Given the description of an element on the screen output the (x, y) to click on. 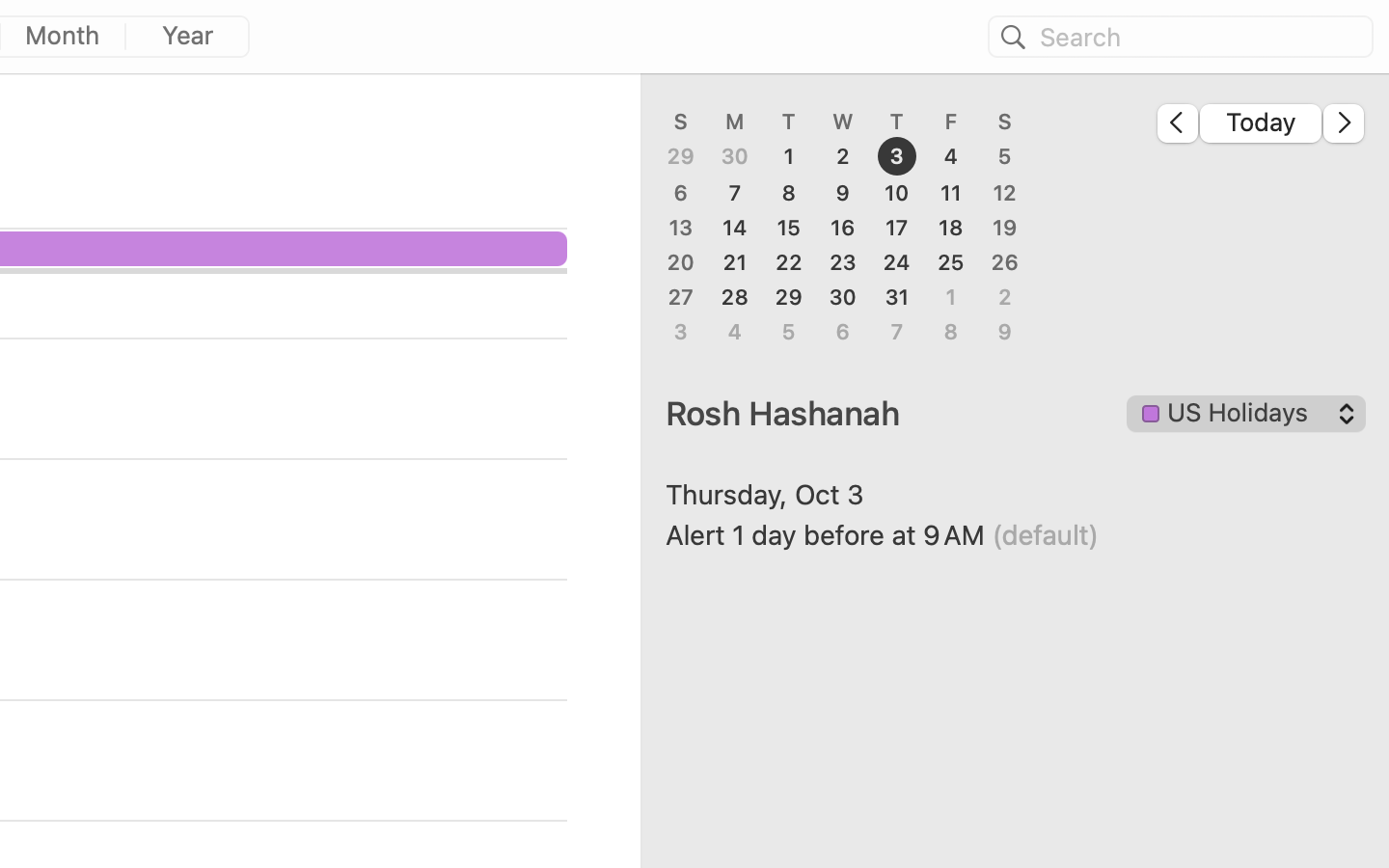
17 Element type: AXStaticText (897, 227)
24 Element type: AXStaticText (897, 261)
10 Element type: AXStaticText (897, 192)
8 Element type: AXStaticText (789, 192)
5 Element type: AXStaticText (1005, 156)
